Given the description of an element on the screen output the (x, y) to click on. 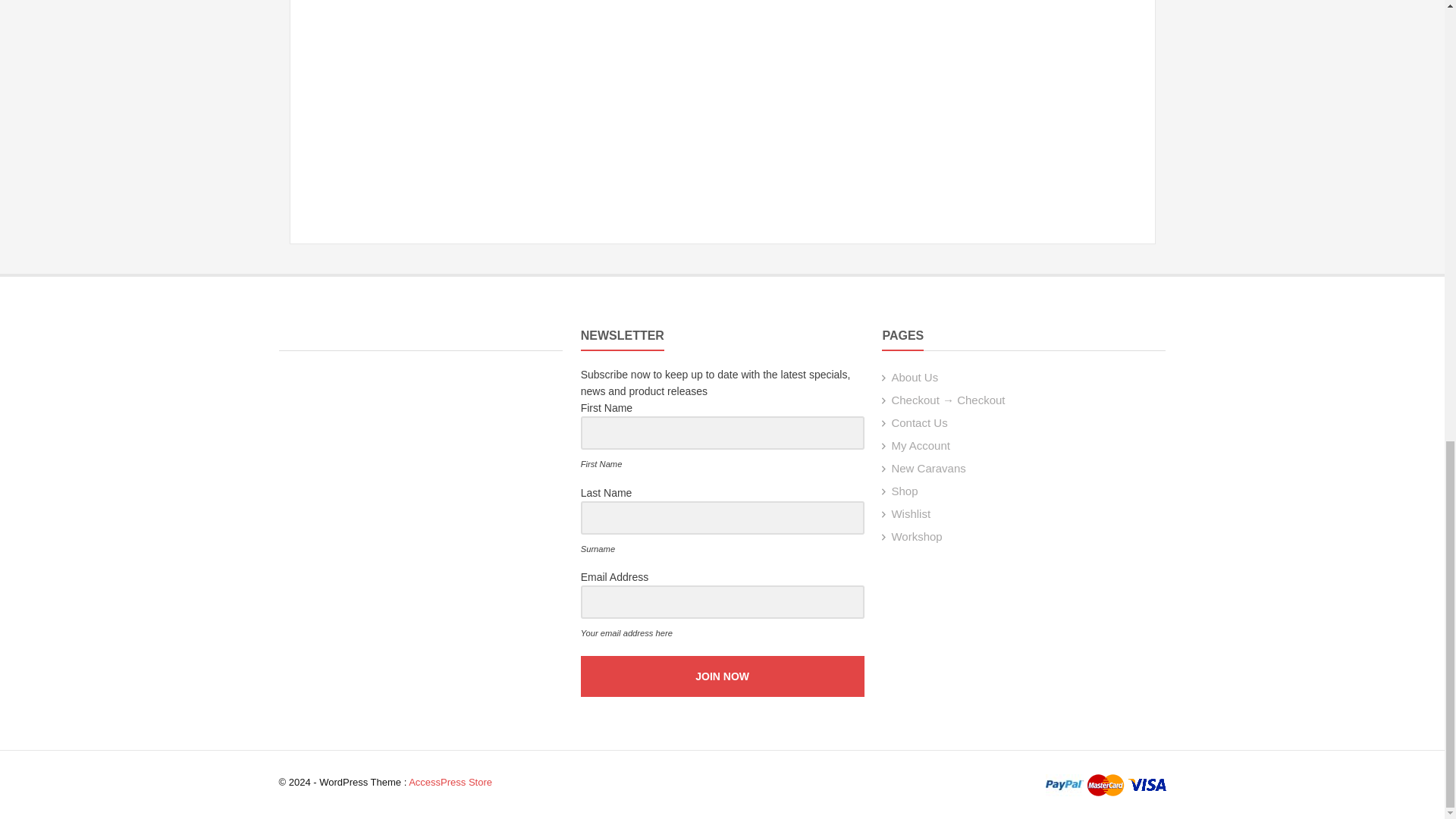
My Account (920, 445)
Contact Us (919, 422)
Workshop (916, 535)
About Us (914, 377)
Shop (904, 490)
JOIN NOW (722, 676)
New Caravans (928, 468)
Wishlist (910, 513)
AccessPress Store (450, 781)
